Given the description of an element on the screen output the (x, y) to click on. 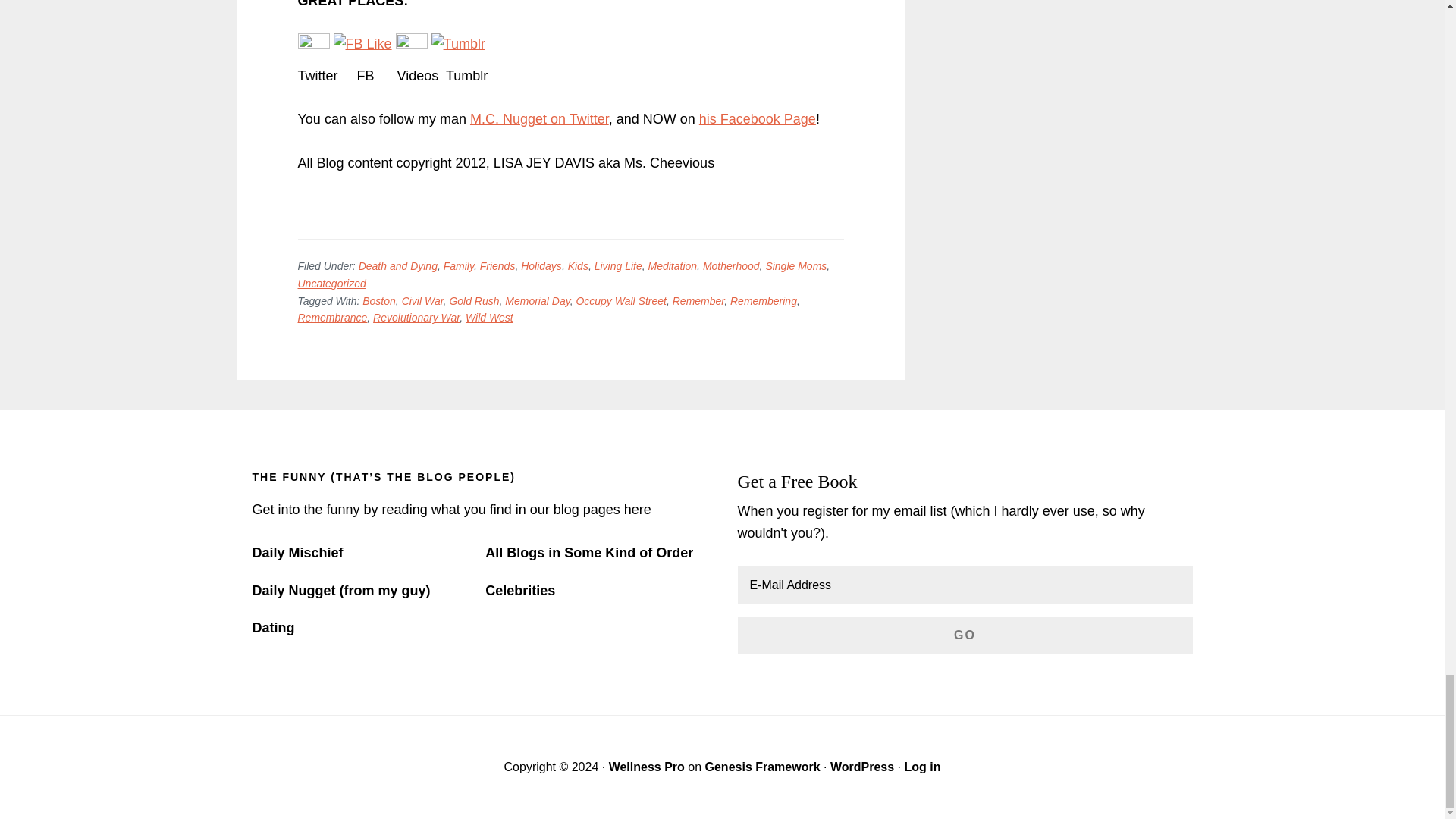
Death and Dying (398, 265)
Kids (577, 265)
TumblrFollow (457, 44)
his Facebook Page (756, 118)
Civil War (422, 300)
Single Moms (796, 265)
Gold Rush (473, 300)
Holidays (541, 265)
Friends (497, 265)
M.C. Nugget on Twitter (539, 118)
Go (964, 635)
Ms. Cheevious on Youtube (412, 43)
Living Life (618, 265)
Ms. Cheevious on Twitter (313, 43)
Uncategorized (331, 283)
